Given the description of an element on the screen output the (x, y) to click on. 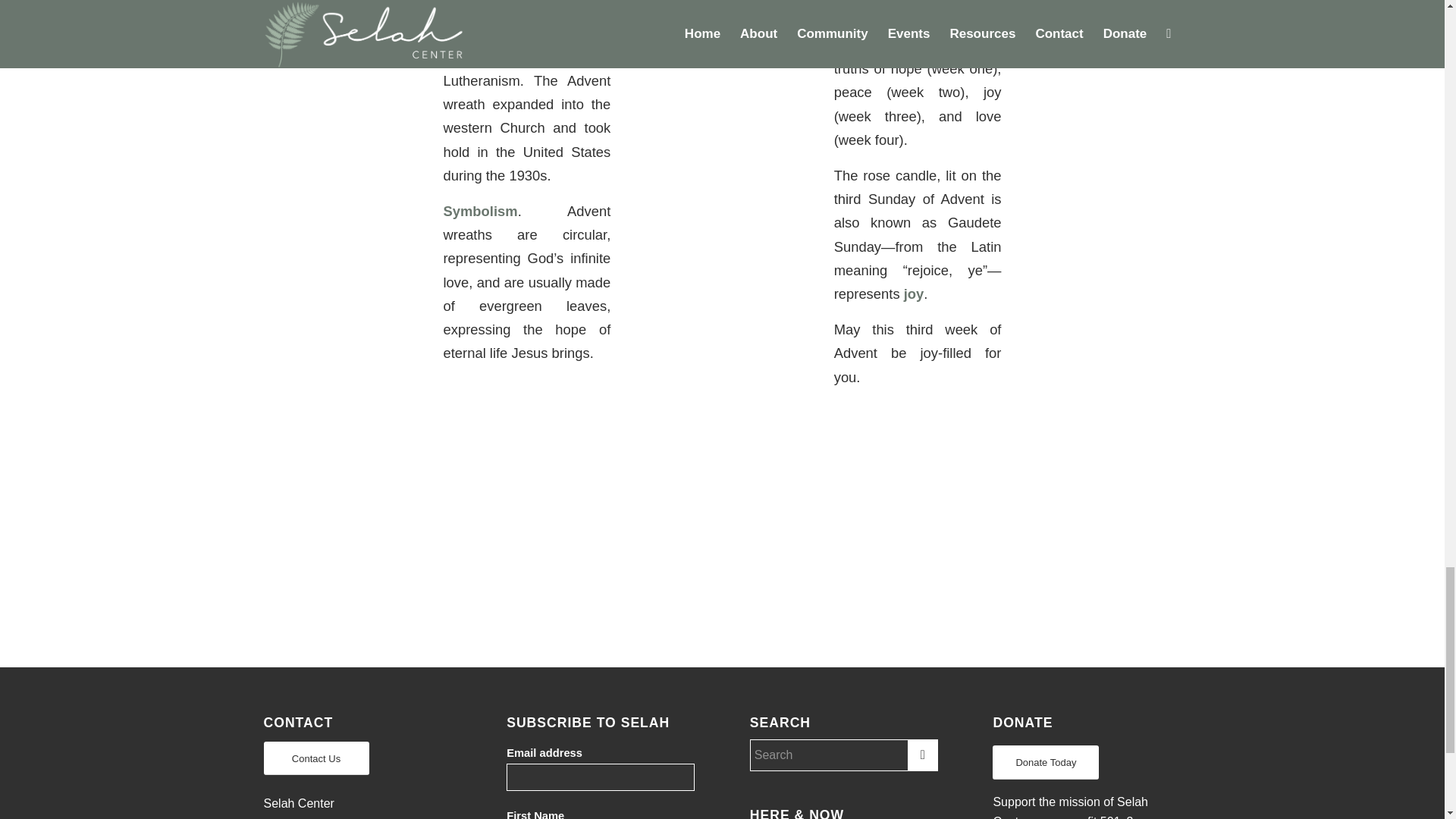
Donate Today (1045, 762)
Contact Us (316, 758)
Donate Today (1045, 762)
